Given the description of an element on the screen output the (x, y) to click on. 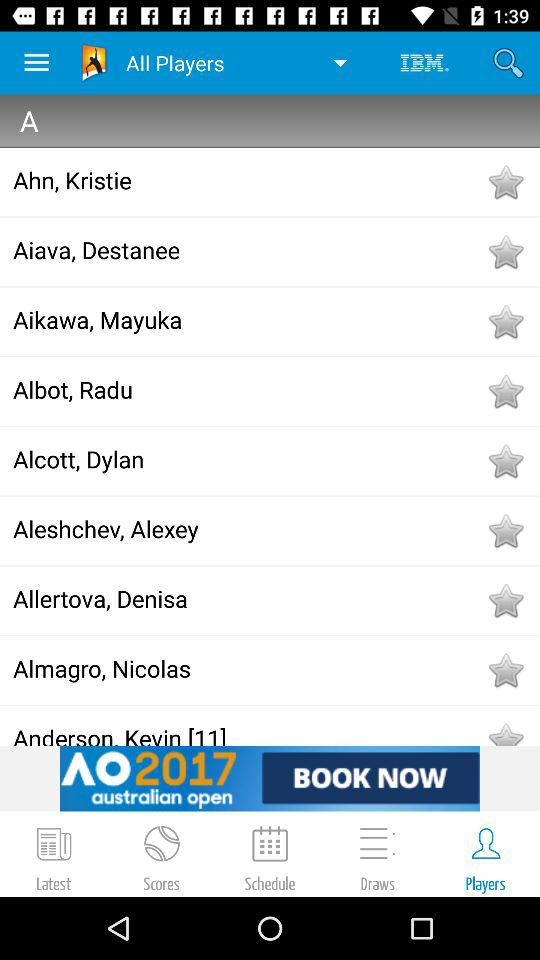
tap the icon below a icon (248, 180)
